Given the description of an element on the screen output the (x, y) to click on. 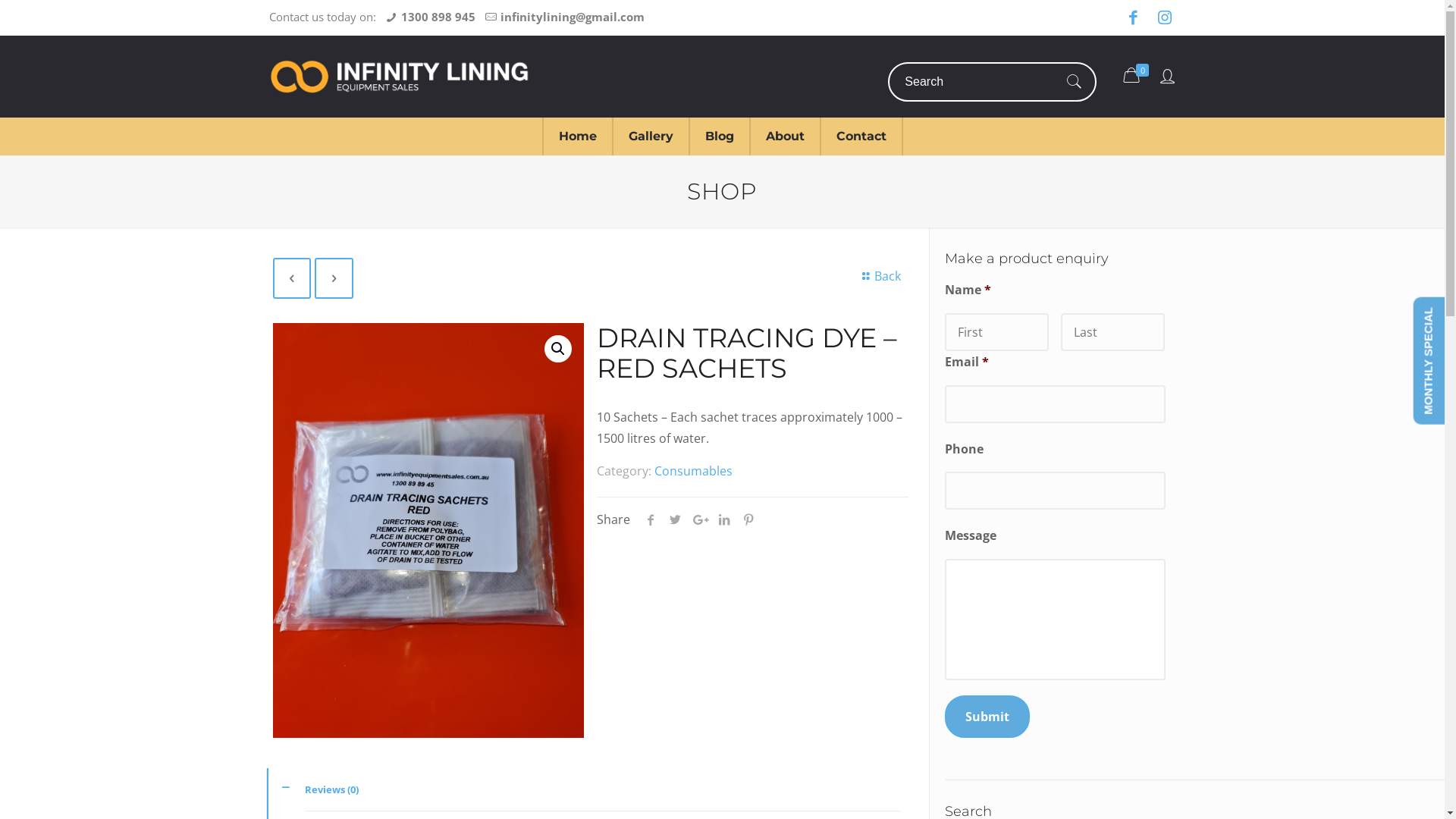
infinitylining@gmail.com Element type: text (572, 16)
Instagram Element type: hover (1164, 17)
Home Element type: text (576, 136)
Submit Element type: text (986, 716)
Back Element type: text (878, 275)
Contact Element type: text (860, 136)
Facebook Element type: hover (1133, 17)
1300 898 945 Element type: text (438, 16)
About Element type: text (784, 136)
0 Element type: text (1137, 74)
Blog Element type: text (719, 136)
Gallery Element type: text (649, 136)
20210309_083026 Element type: hover (428, 530)
Consumables Element type: text (693, 470)
Infinity Equipment Sales Element type: hover (399, 76)
